Given the description of an element on the screen output the (x, y) to click on. 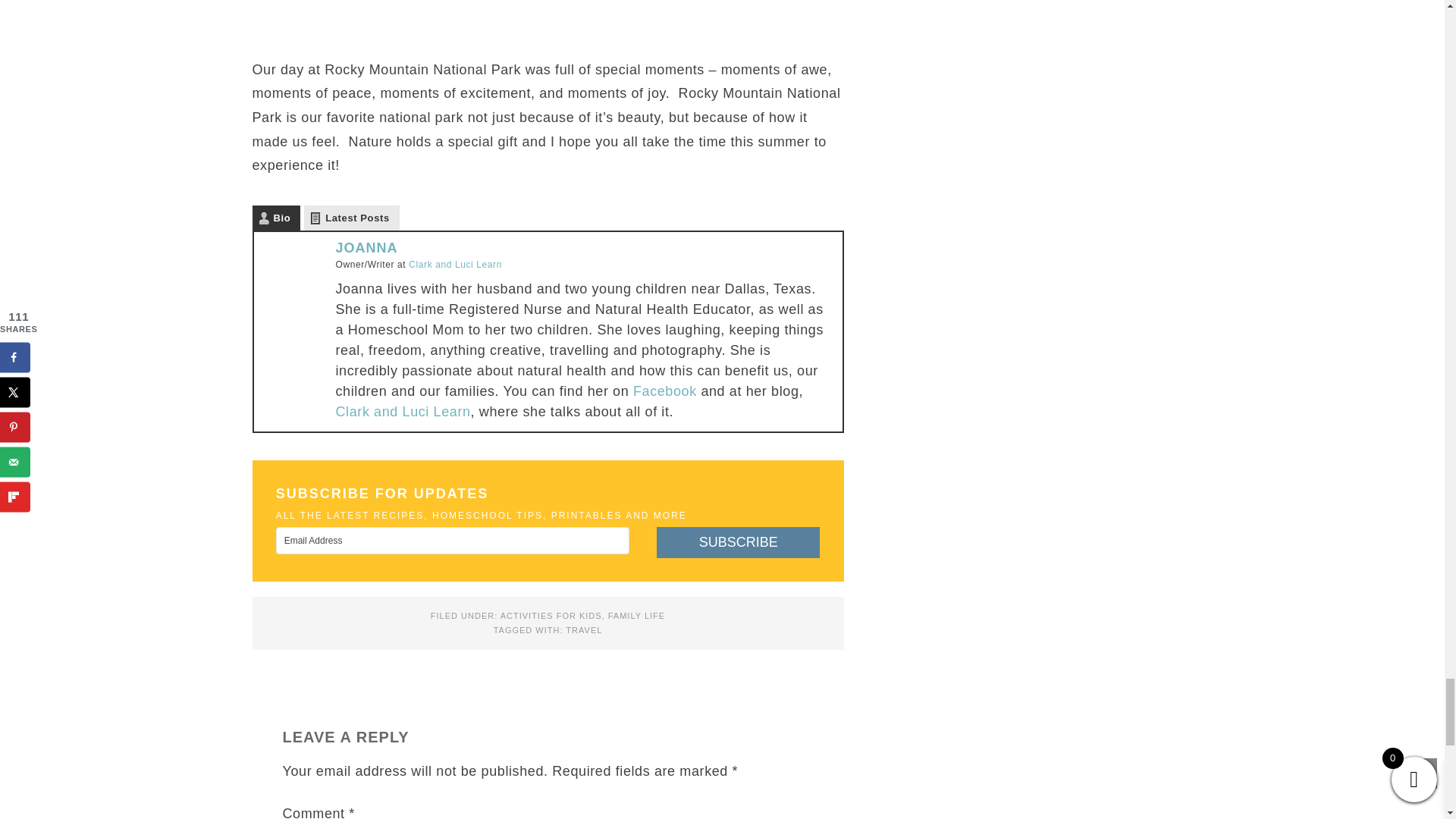
Instagram (282, 334)
Pinterest (303, 334)
Facebook (303, 309)
Twitter (282, 309)
